Given the description of an element on the screen output the (x, y) to click on. 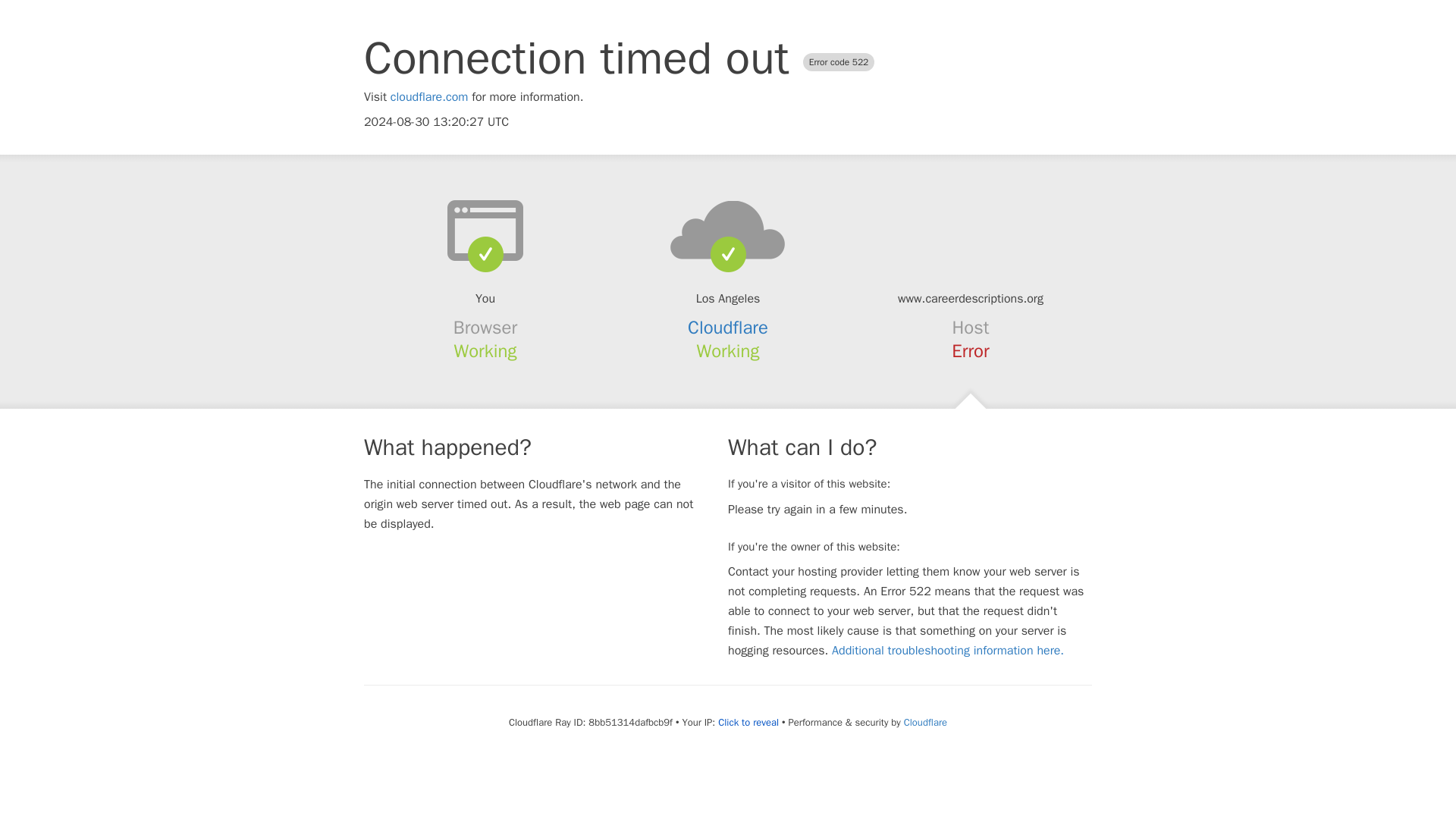
Click to reveal (747, 722)
Cloudflare (727, 327)
Cloudflare (925, 721)
cloudflare.com (429, 96)
Additional troubleshooting information here. (947, 650)
